Given the description of an element on the screen output the (x, y) to click on. 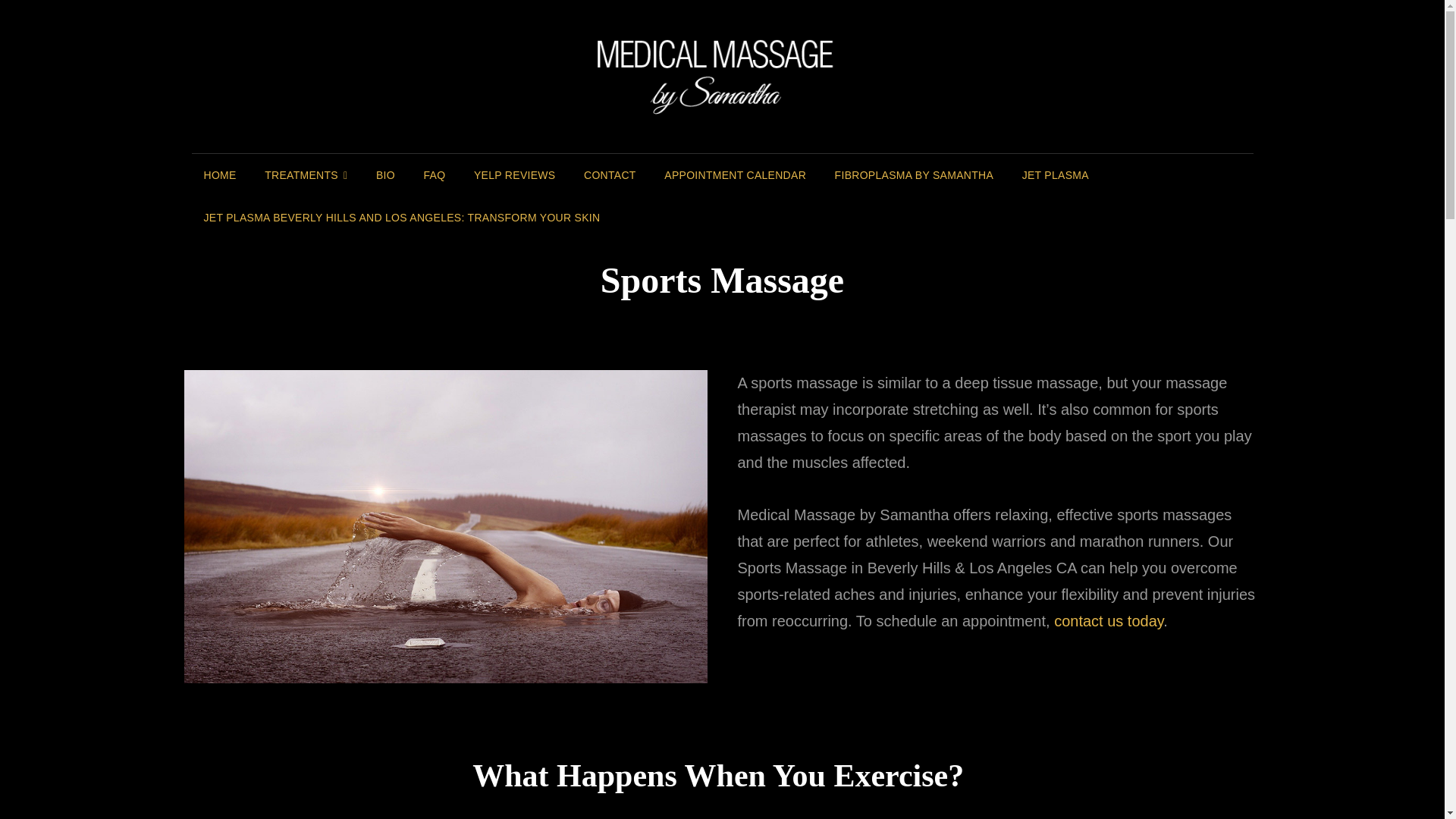
APPOINTMENT CALENDAR (735, 174)
contact us today (1108, 620)
FAQ (435, 174)
CONTACT (609, 174)
JET PLASMA (1055, 174)
FIBROPLASMA BY SAMANTHA (914, 174)
HOME (218, 174)
TREATMENTS (305, 174)
BIO (385, 174)
